Given the description of an element on the screen output the (x, y) to click on. 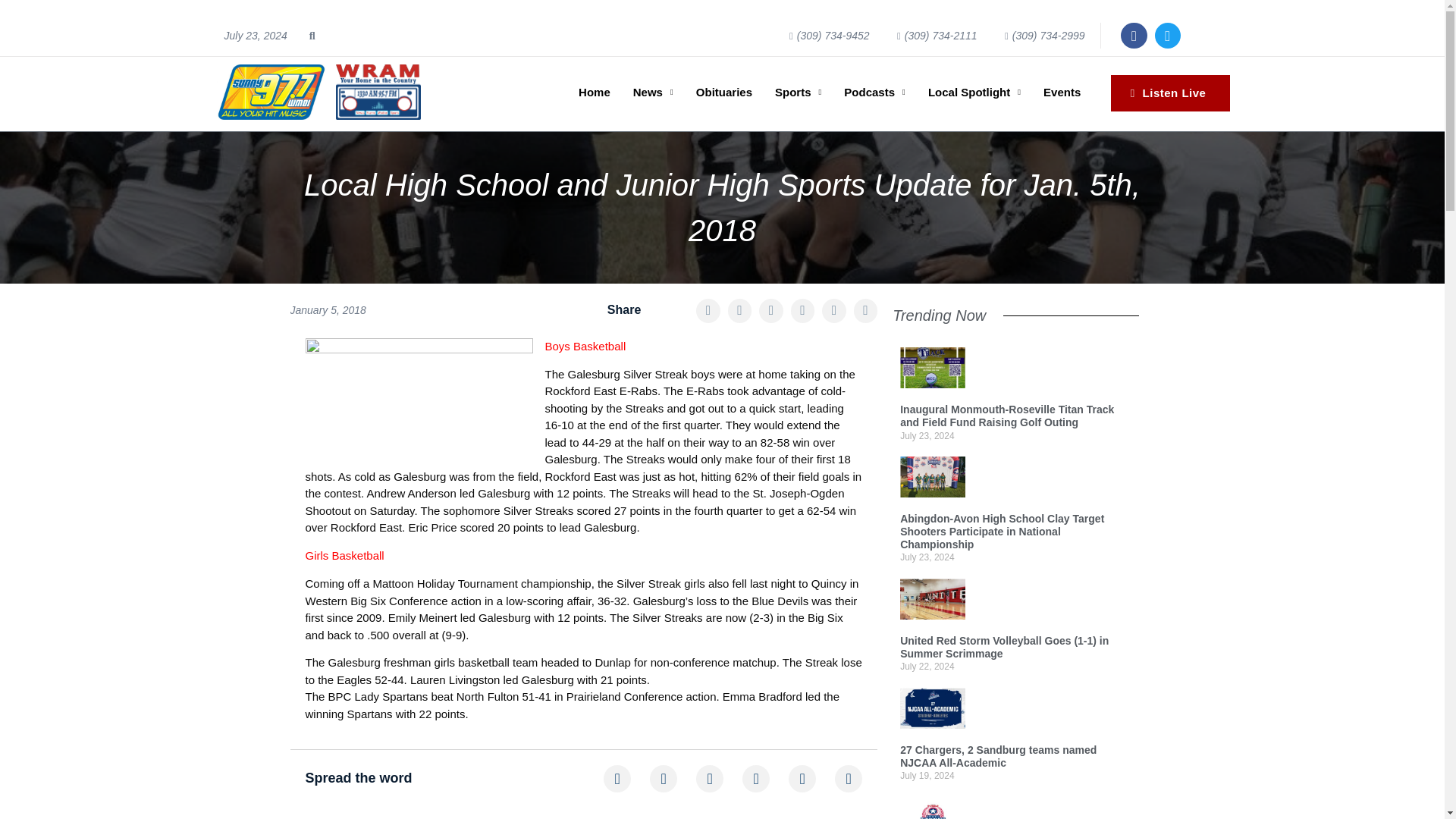
Sports (798, 92)
Podcasts (874, 92)
Home (594, 92)
Events (1062, 92)
News (652, 92)
Local Spotlight (974, 92)
Obituaries (724, 92)
